Given the description of an element on the screen output the (x, y) to click on. 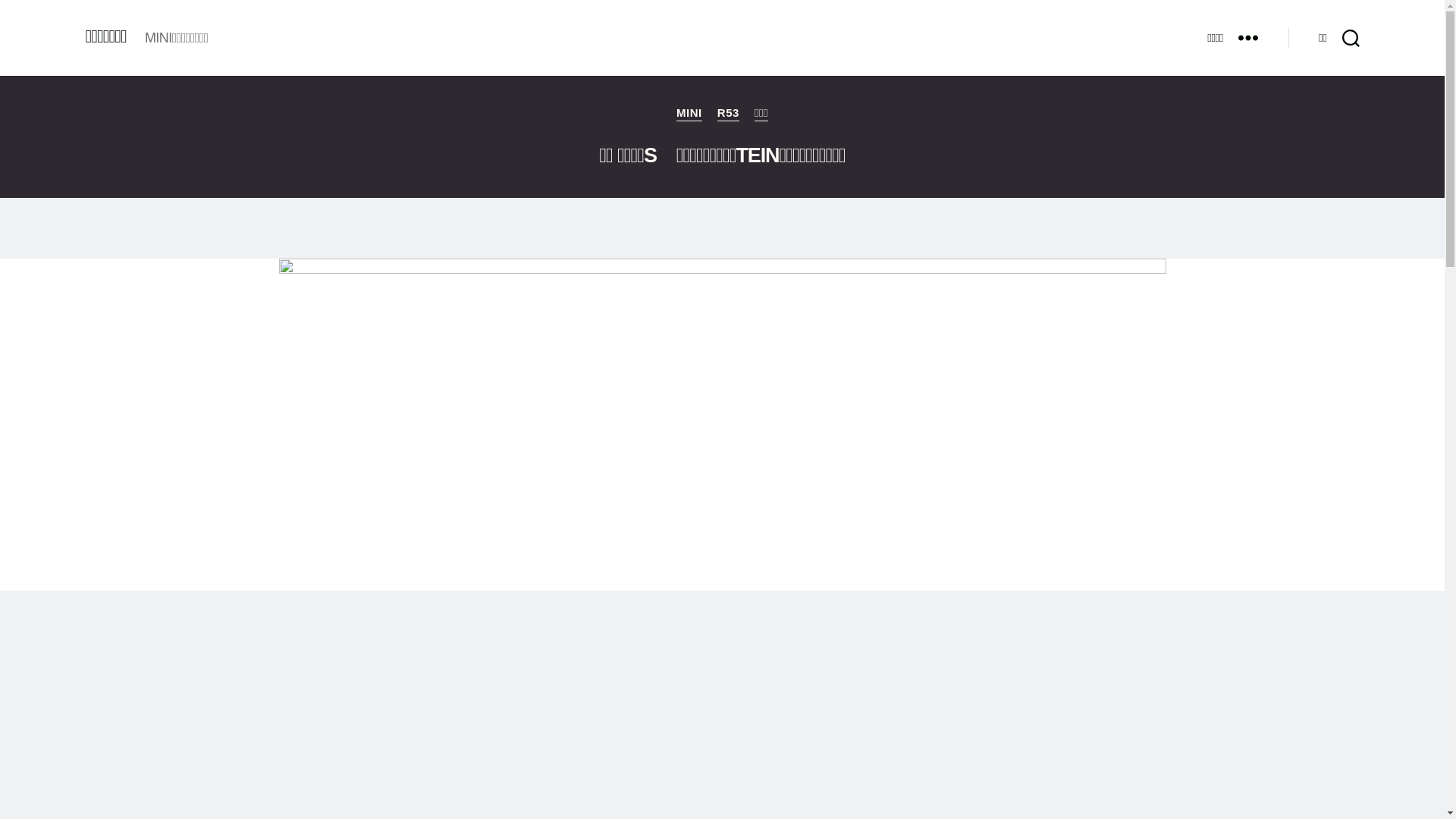
MINI Element type: text (689, 113)
R53 Element type: text (728, 113)
